Given the description of an element on the screen output the (x, y) to click on. 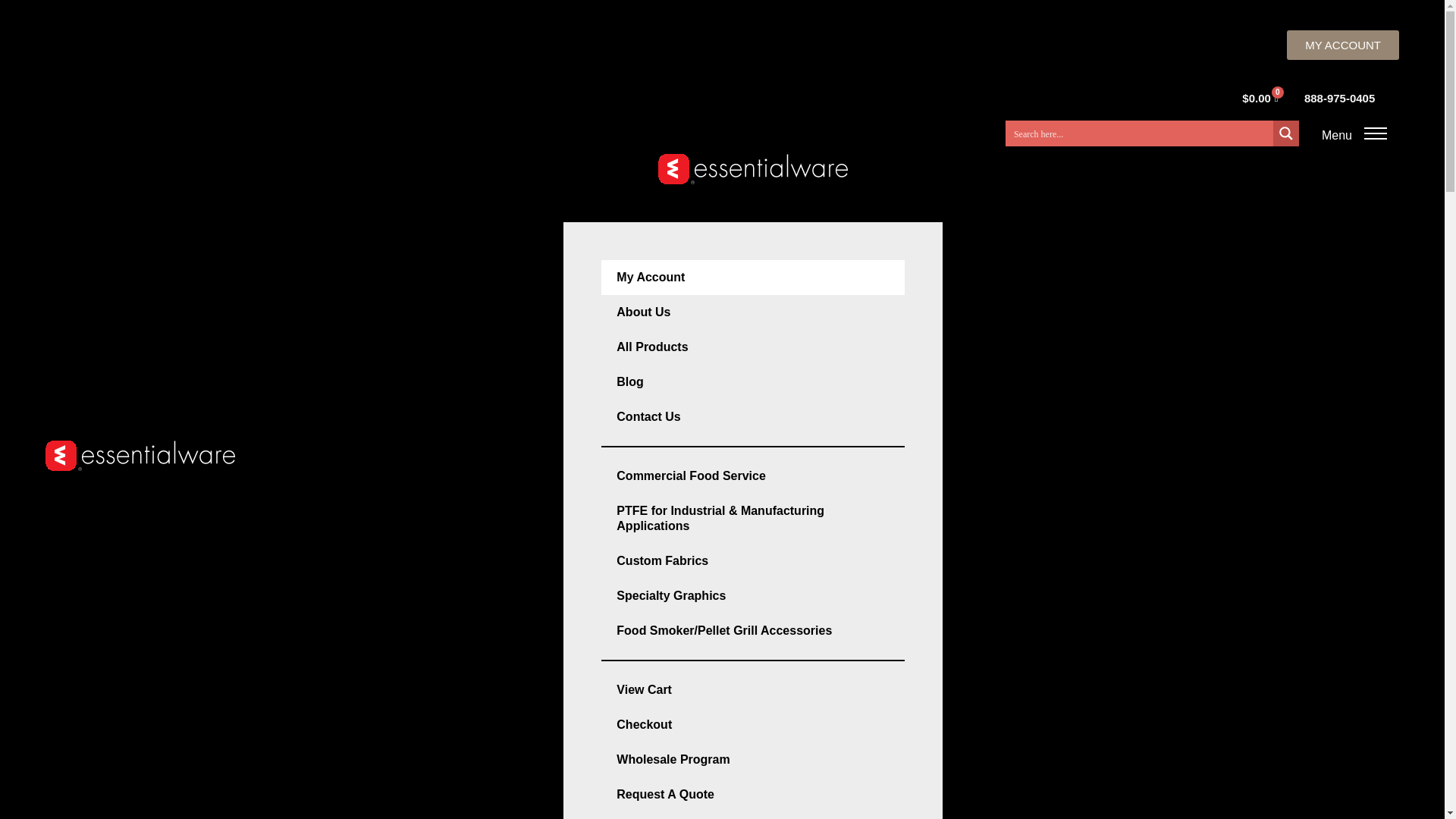
MY ACCOUNT (1343, 44)
Blog (752, 381)
Specialty Graphics (752, 595)
Wholesale Program (752, 759)
Contact Us (752, 416)
View Cart (752, 689)
My Account (752, 277)
Checkout (752, 724)
Request A Quote (752, 794)
All Products (752, 347)
